Given the description of an element on the screen output the (x, y) to click on. 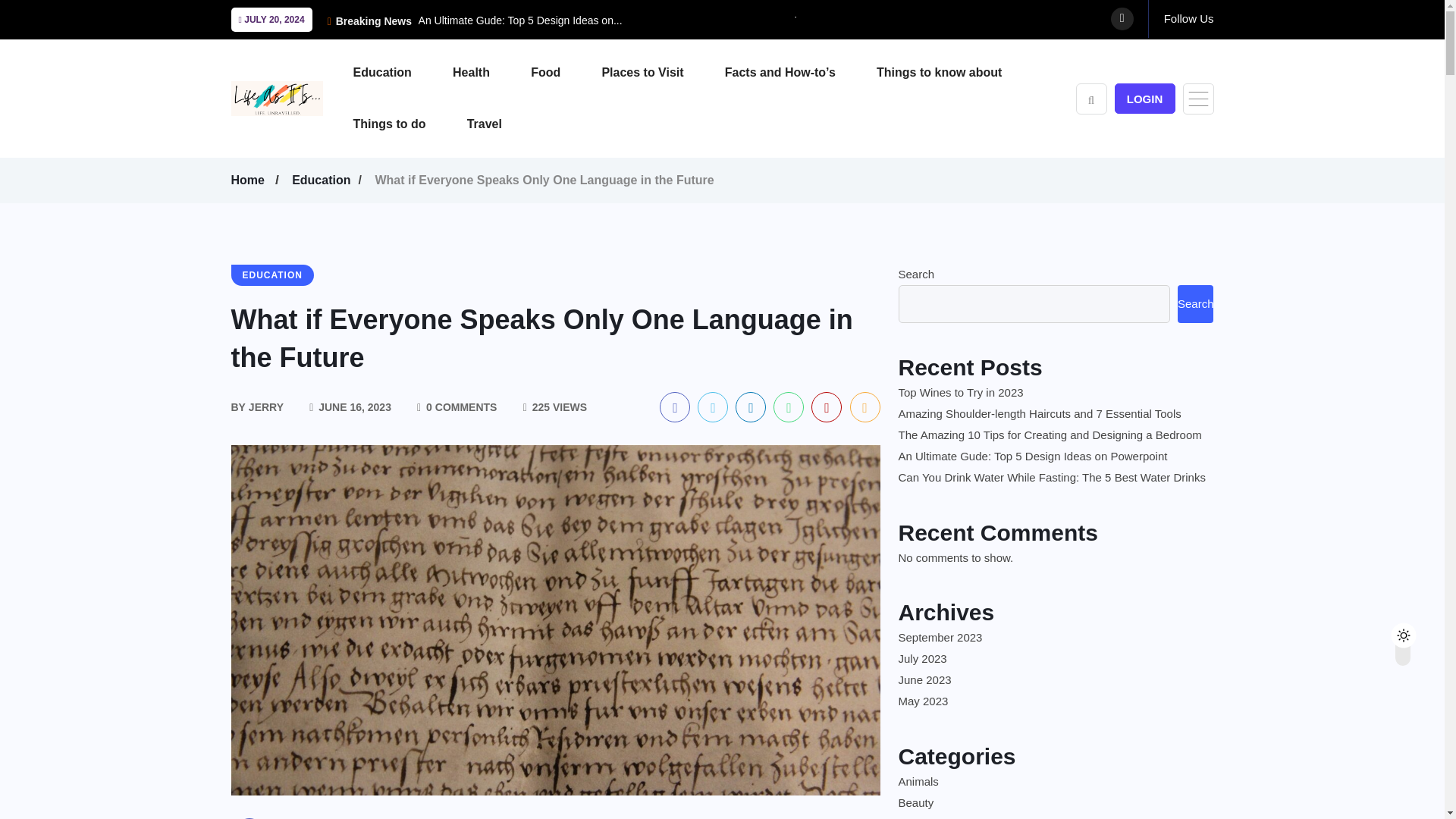
Top Wines to Try in 2023  (854, 20)
Health (489, 72)
LOGIN (1144, 98)
Travel (503, 123)
Amazing Shoulder-length Haircuts and 7 Essential Tools (831, 234)
Places to Visit (660, 72)
Education (401, 72)
Things to do (408, 123)
Food (564, 72)
on (1415, 631)
An Ultimate Gude: Top 5 Design Ideas on... (521, 20)
Things to know about (957, 72)
